Given the description of an element on the screen output the (x, y) to click on. 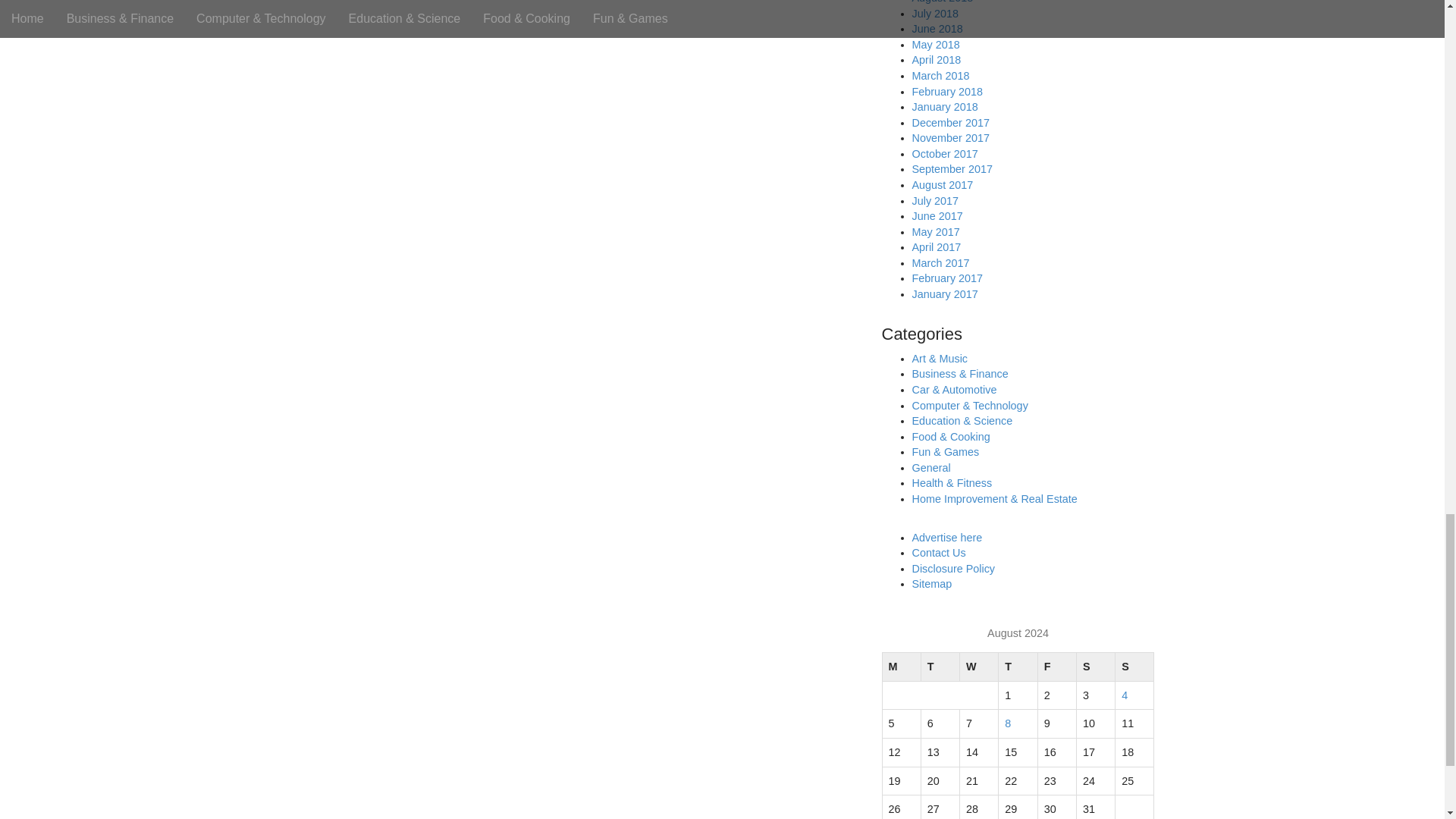
Thursday (1017, 666)
Monday (901, 666)
Saturday (1095, 666)
Tuesday (939, 666)
Friday (1055, 666)
Sunday (1134, 666)
Wednesday (978, 666)
